Given the description of an element on the screen output the (x, y) to click on. 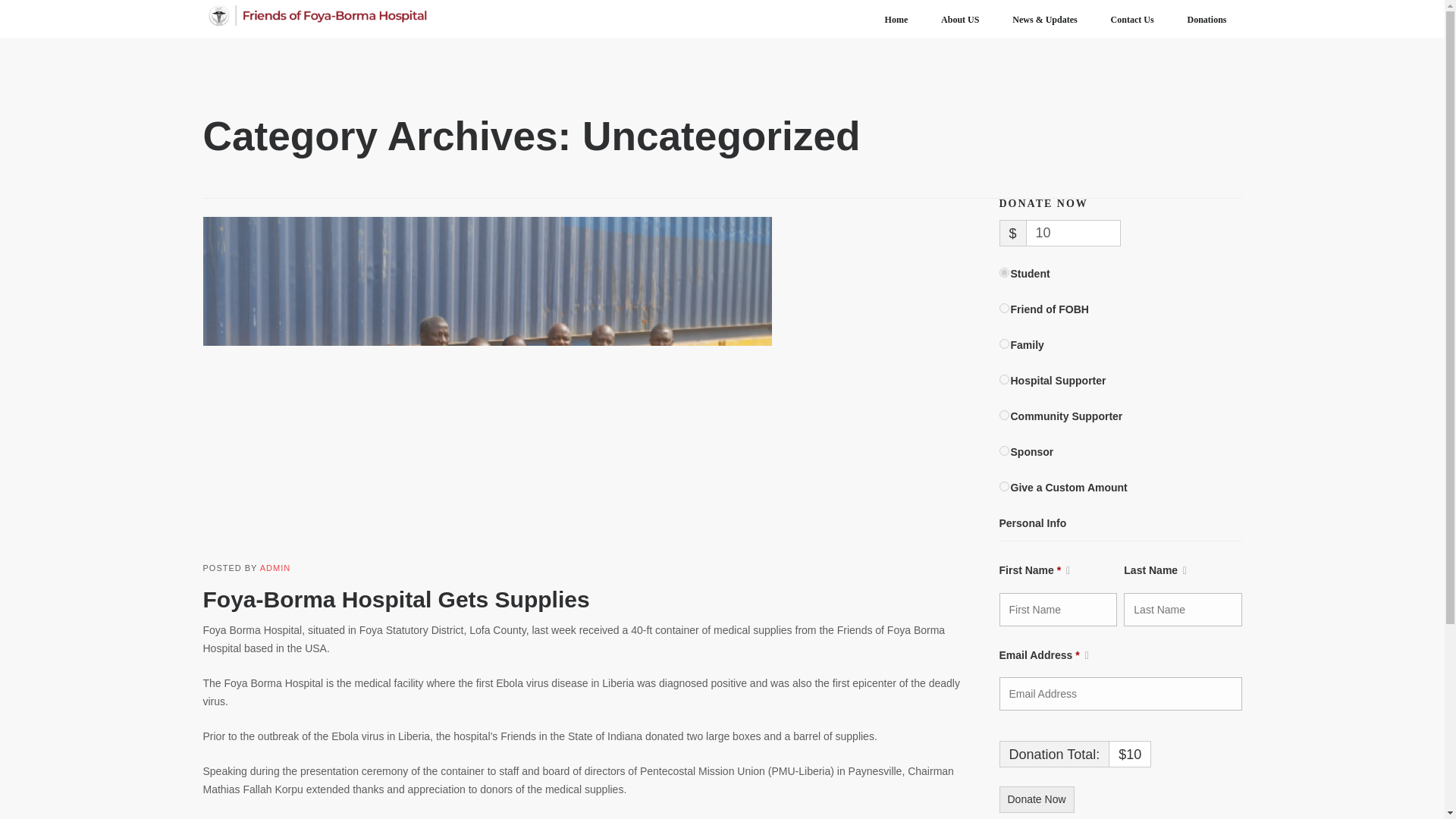
201 (1003, 379)
10 (1003, 272)
Home (896, 19)
101 (1003, 343)
301 (1003, 415)
Posts by Admin (274, 567)
About US (960, 19)
10 (1073, 233)
custom (1003, 486)
Foya-Borma Hospital Gets Supplies (396, 599)
